Given the description of an element on the screen output the (x, y) to click on. 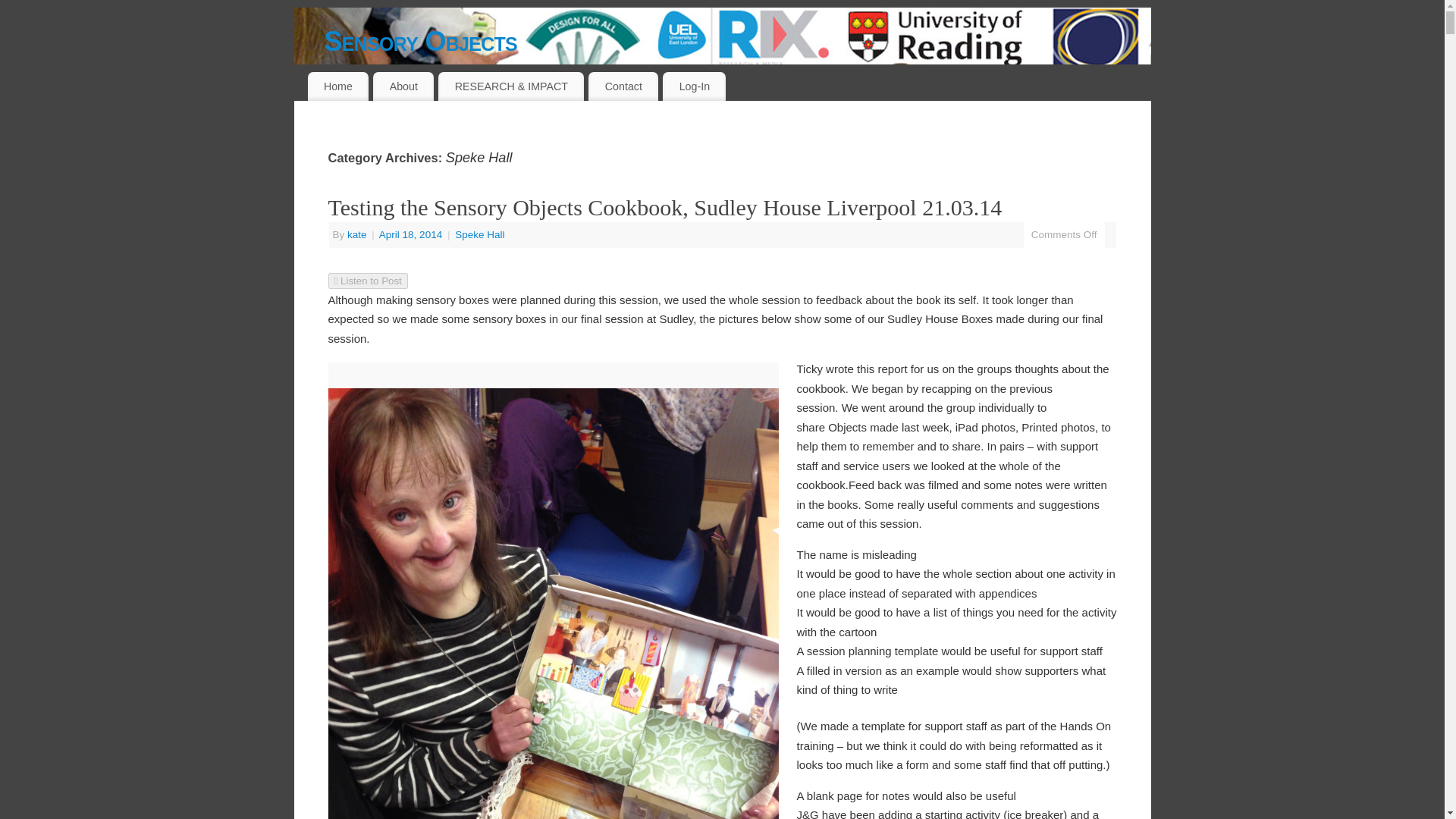
April 18, 2014 (411, 234)
Home (338, 86)
Contact (623, 86)
About (402, 86)
Sensory Objects (737, 41)
View all posts by kate (356, 234)
7:00 pm (411, 234)
